Given the description of an element on the screen output the (x, y) to click on. 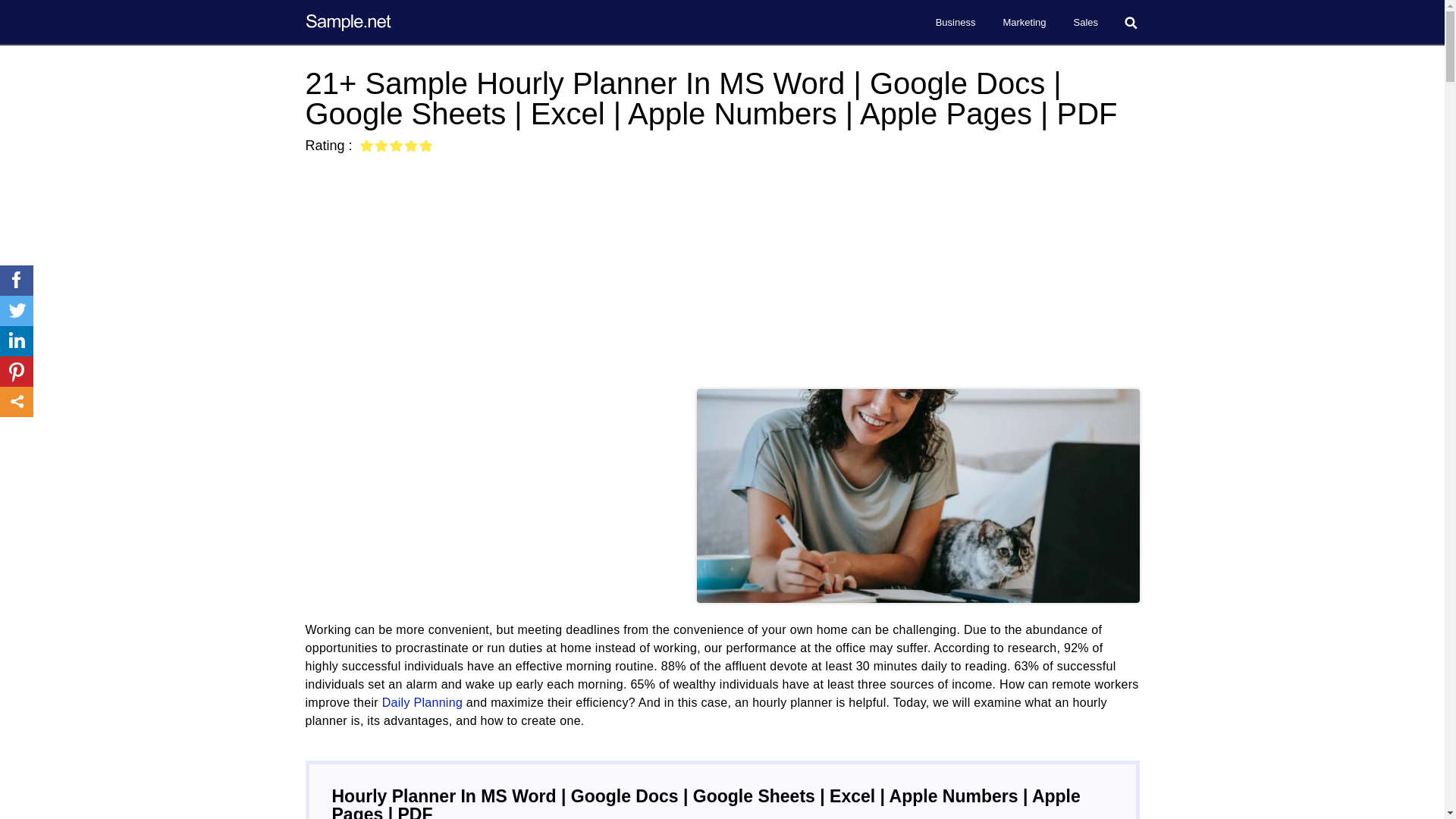
Sales (1085, 22)
Marketing (1023, 22)
Daily Planning (422, 702)
Business (955, 22)
